Given the description of an element on the screen output the (x, y) to click on. 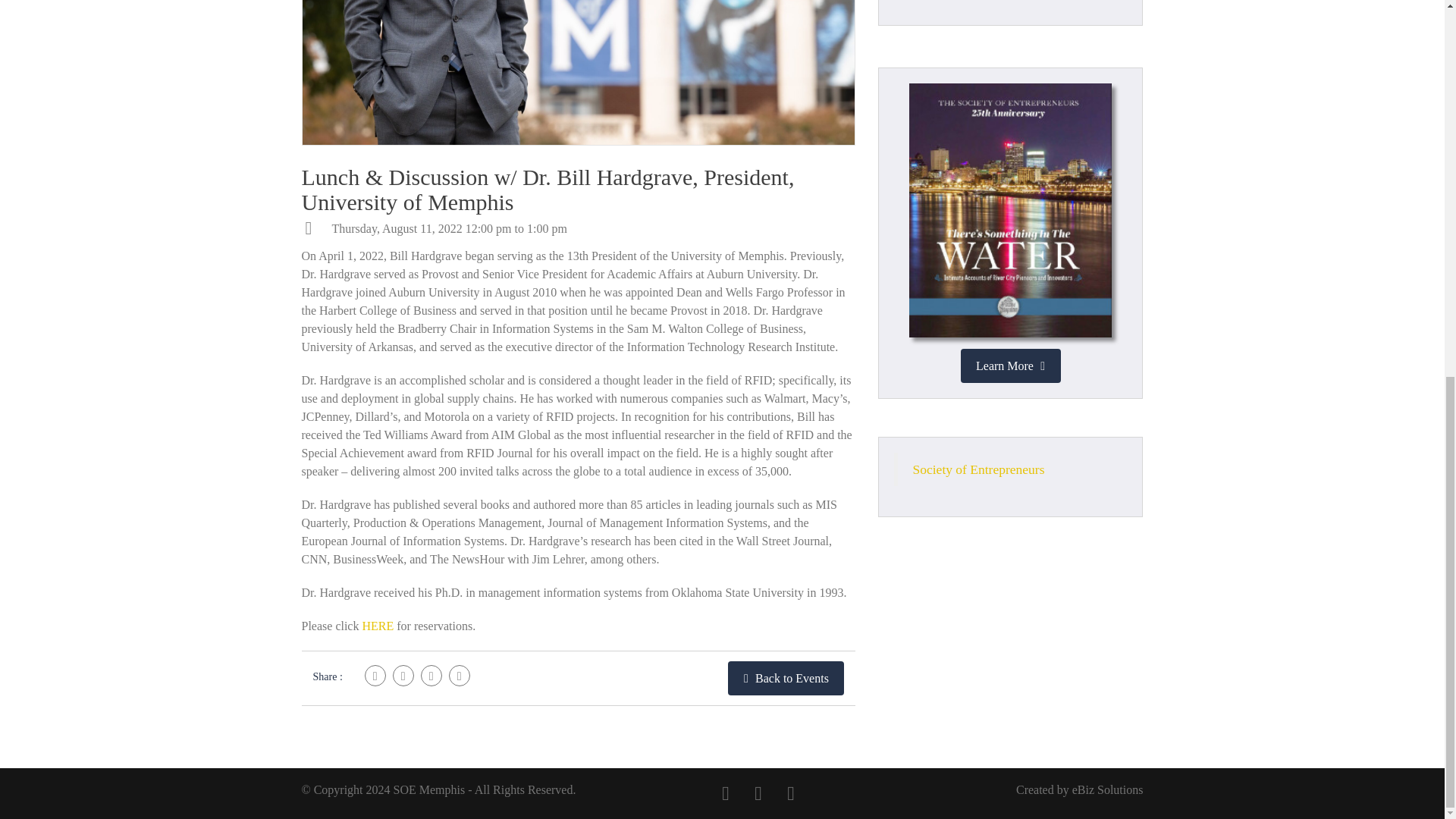
Learn More (1009, 365)
eBiz Solutions (1106, 789)
Back to Events (786, 677)
Society of Entrepreneurs (978, 468)
HERE (377, 625)
